Given the description of an element on the screen output the (x, y) to click on. 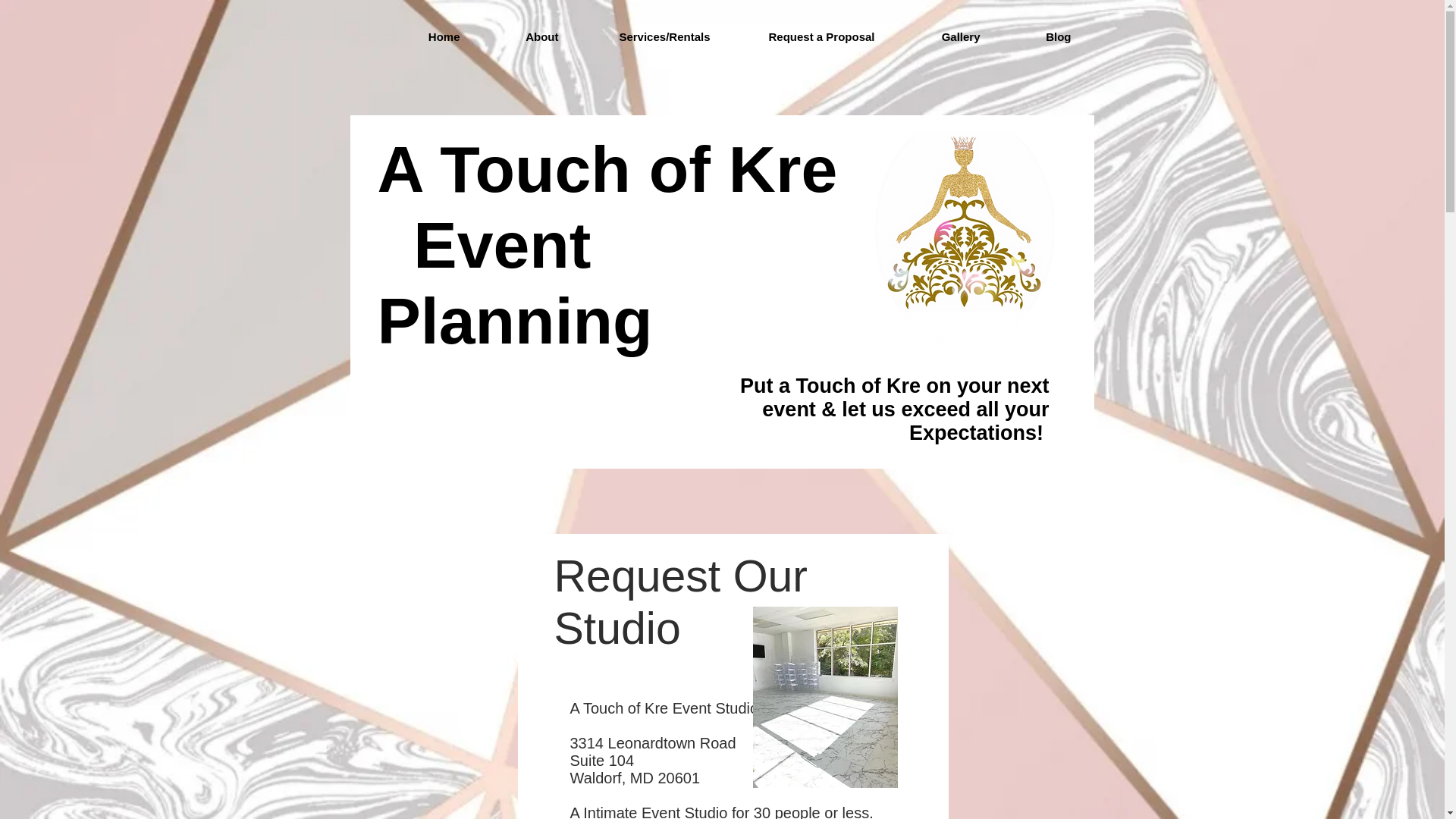
Home (420, 36)
Gallery (938, 36)
Request a Proposal (804, 36)
A Touch of Kre   Event Planning  (607, 244)
Blog (1037, 36)
About (520, 36)
